Given the description of an element on the screen output the (x, y) to click on. 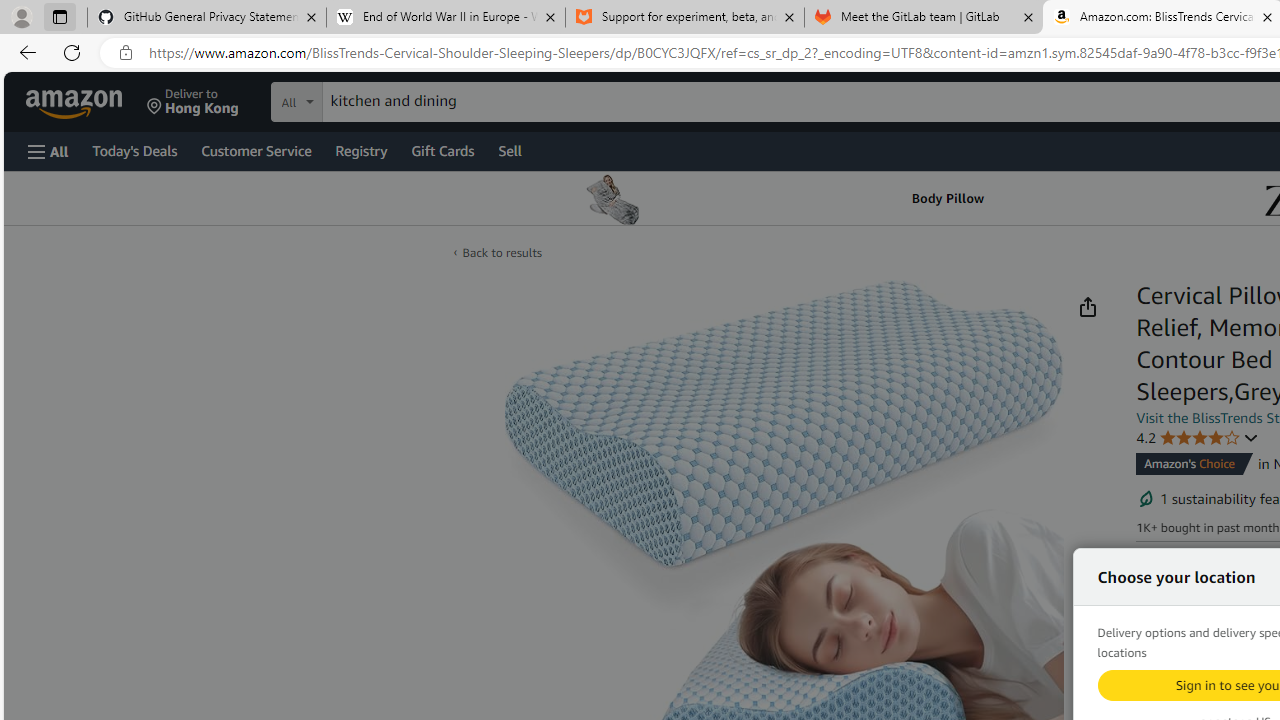
Learn more about Amazon pricing and savings (1238, 633)
Sustainability features (1146, 498)
Search in (371, 99)
Sell (509, 150)
Meet the GitLab team | GitLab (924, 17)
Share (1087, 307)
Deliver to Hong Kong (193, 101)
Customer Service (256, 150)
GitHub General Privacy Statement - GitHub Docs (207, 17)
Back to results (501, 251)
Today's Deals (134, 150)
